Given the description of an element on the screen output the (x, y) to click on. 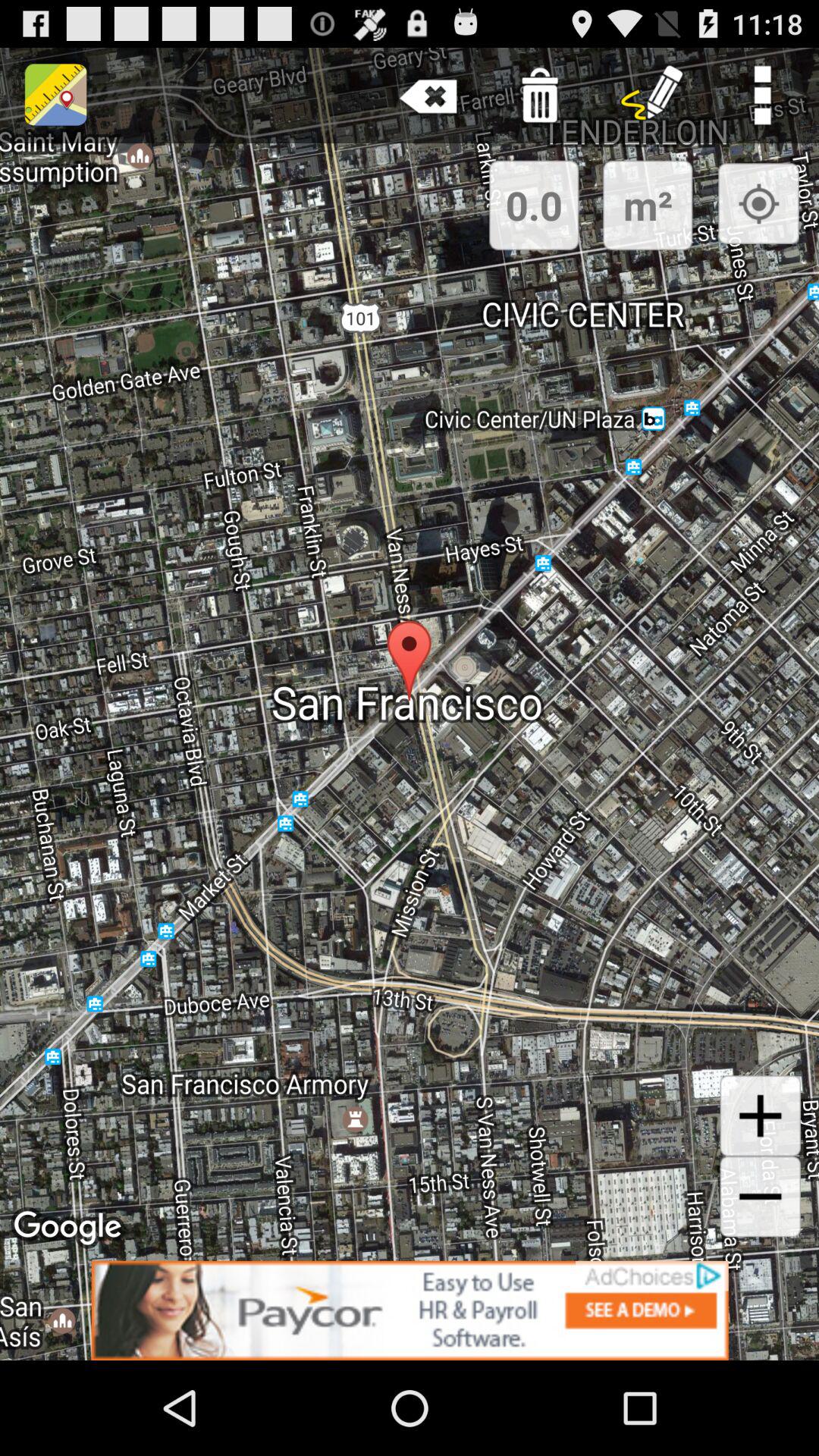
know about the advertisement (409, 1310)
